Given the description of an element on the screen output the (x, y) to click on. 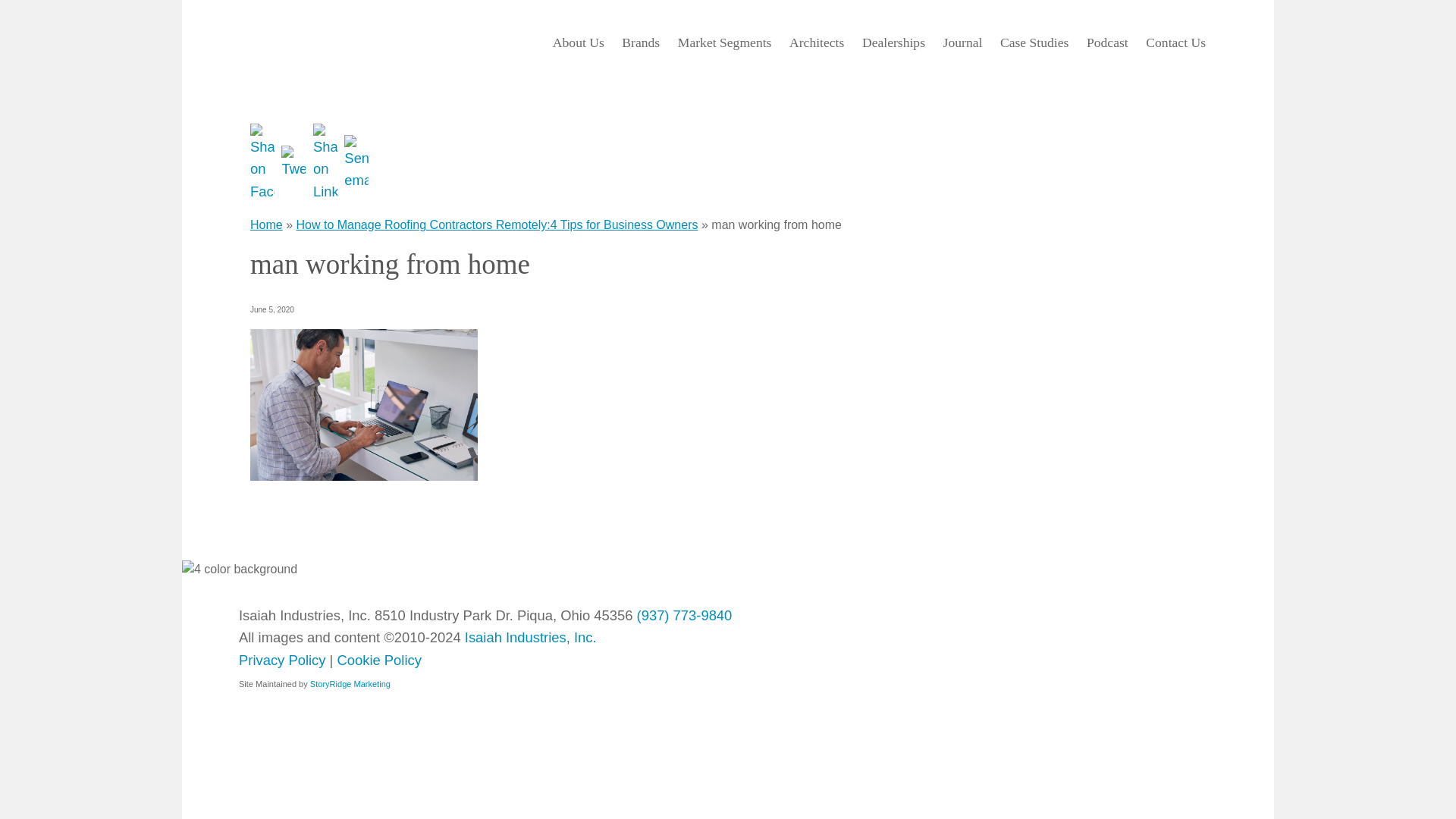
Home (266, 224)
Case Studies (1036, 42)
Brands (643, 42)
Share on Facebook (264, 161)
Journal (964, 42)
Isaiah Industries, Inc. (320, 42)
Cookie Policy (378, 659)
Architects (819, 42)
